Given the description of an element on the screen output the (x, y) to click on. 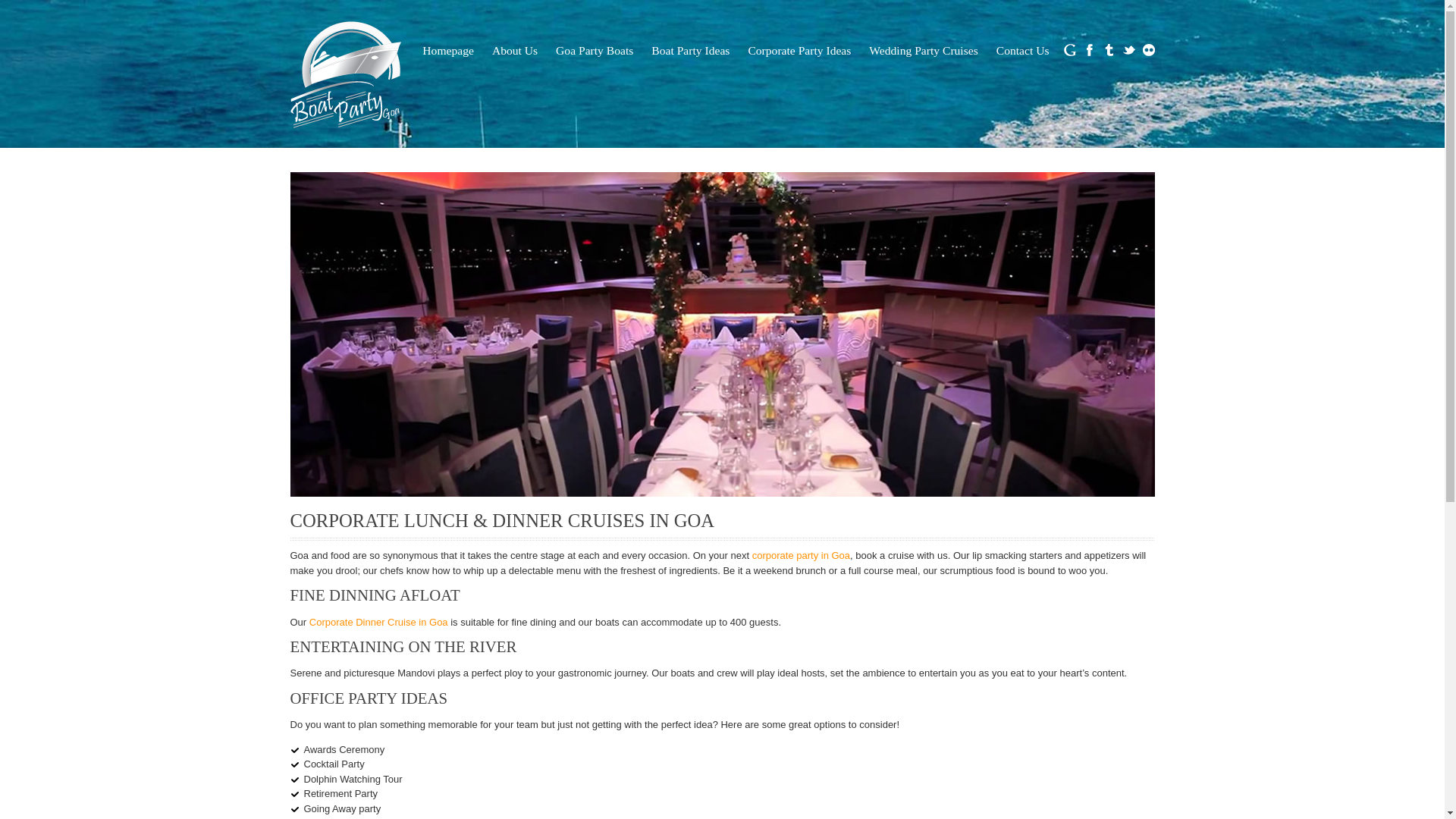
Wedding Party Cruises (922, 50)
Corporate Dinner Cruise in Goa (378, 622)
Twitter (1128, 50)
Tumblr (1108, 50)
Google (1068, 50)
About Us (514, 50)
Facebook (1088, 50)
Boat Party Ideas (690, 50)
Corporate Party Ideas (799, 50)
Contact Us (1023, 50)
